Given the description of an element on the screen output the (x, y) to click on. 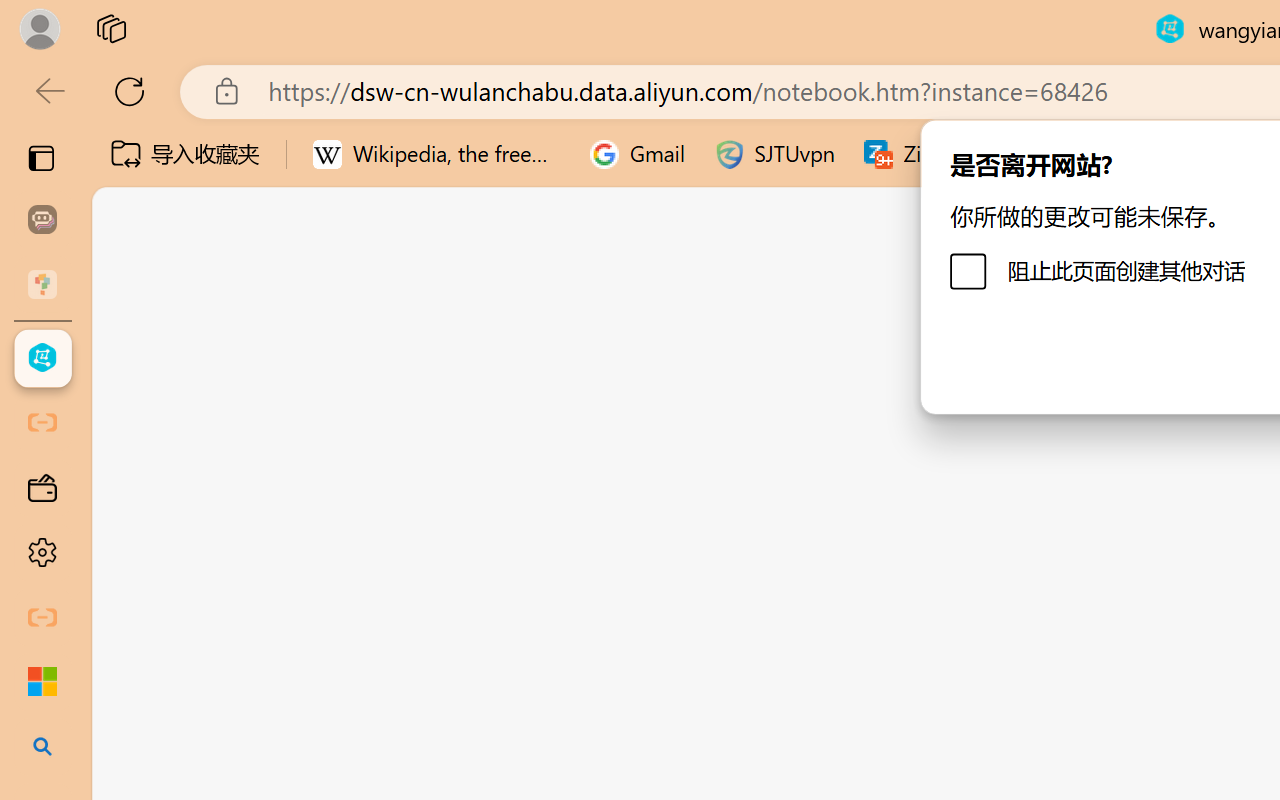
Explorer Section: workspace (331, 409)
Go Back (Alt+LeftArrow) (605, 294)
